Given the description of an element on the screen output the (x, y) to click on. 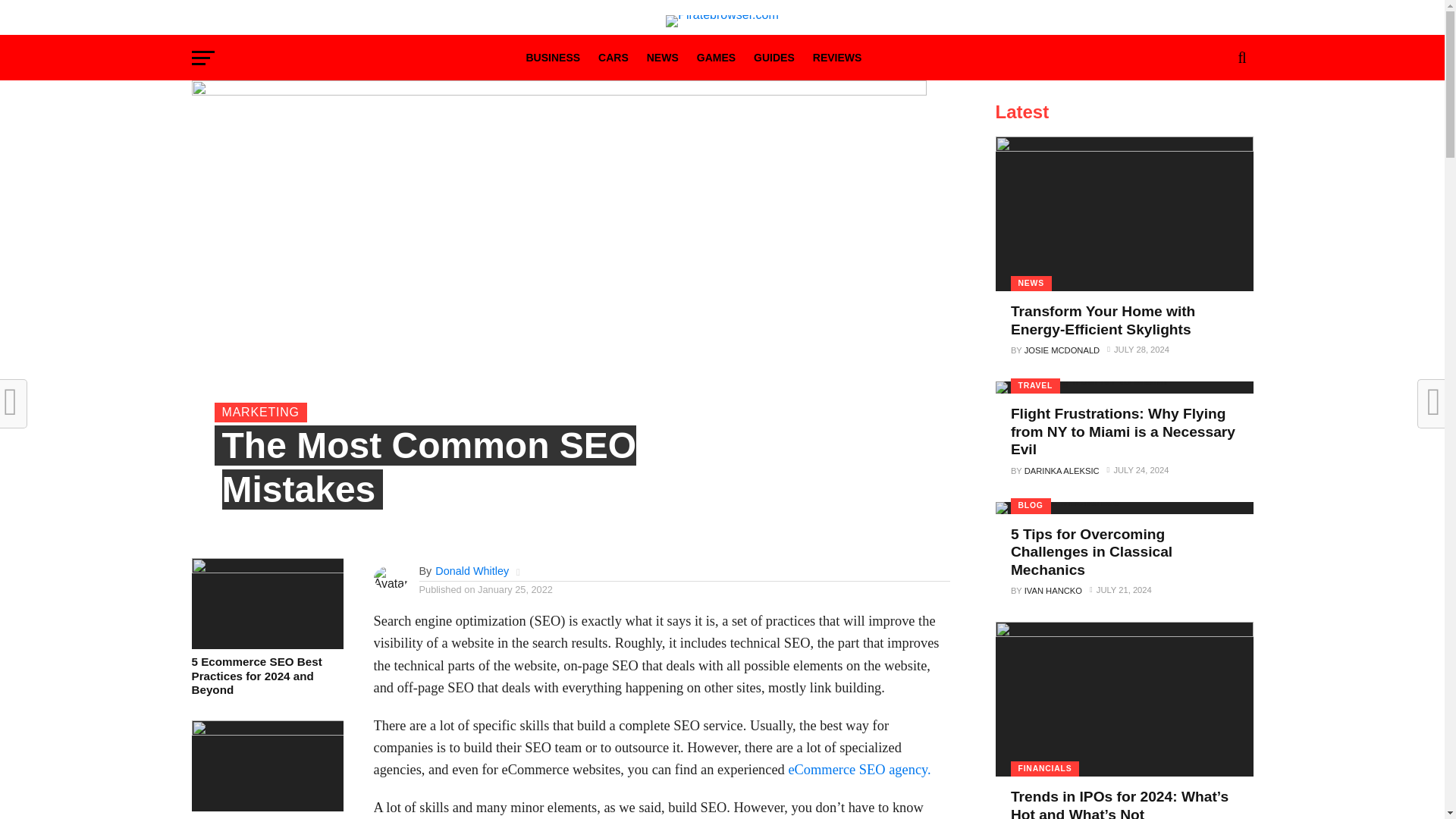
GUIDES (773, 58)
Signs Your Business Needs a Better SEO Strategy (266, 730)
Posts by Ivan Hancko (1053, 590)
REVIEWS (836, 58)
5 Ecommerce SEO Best Practices for 2024 and Beyond (266, 676)
5 Ecommerce SEO Best Practices for 2024 and Beyond (266, 568)
GAMES (715, 58)
NEWS (662, 58)
Posts by Donald Whitley (471, 571)
Posts by Darinka Aleksic (1062, 470)
Donald Whitley (471, 571)
Posts by Josie McDonald (1062, 349)
eCommerce SEO agency. (857, 769)
CARS (613, 58)
